Given the description of an element on the screen output the (x, y) to click on. 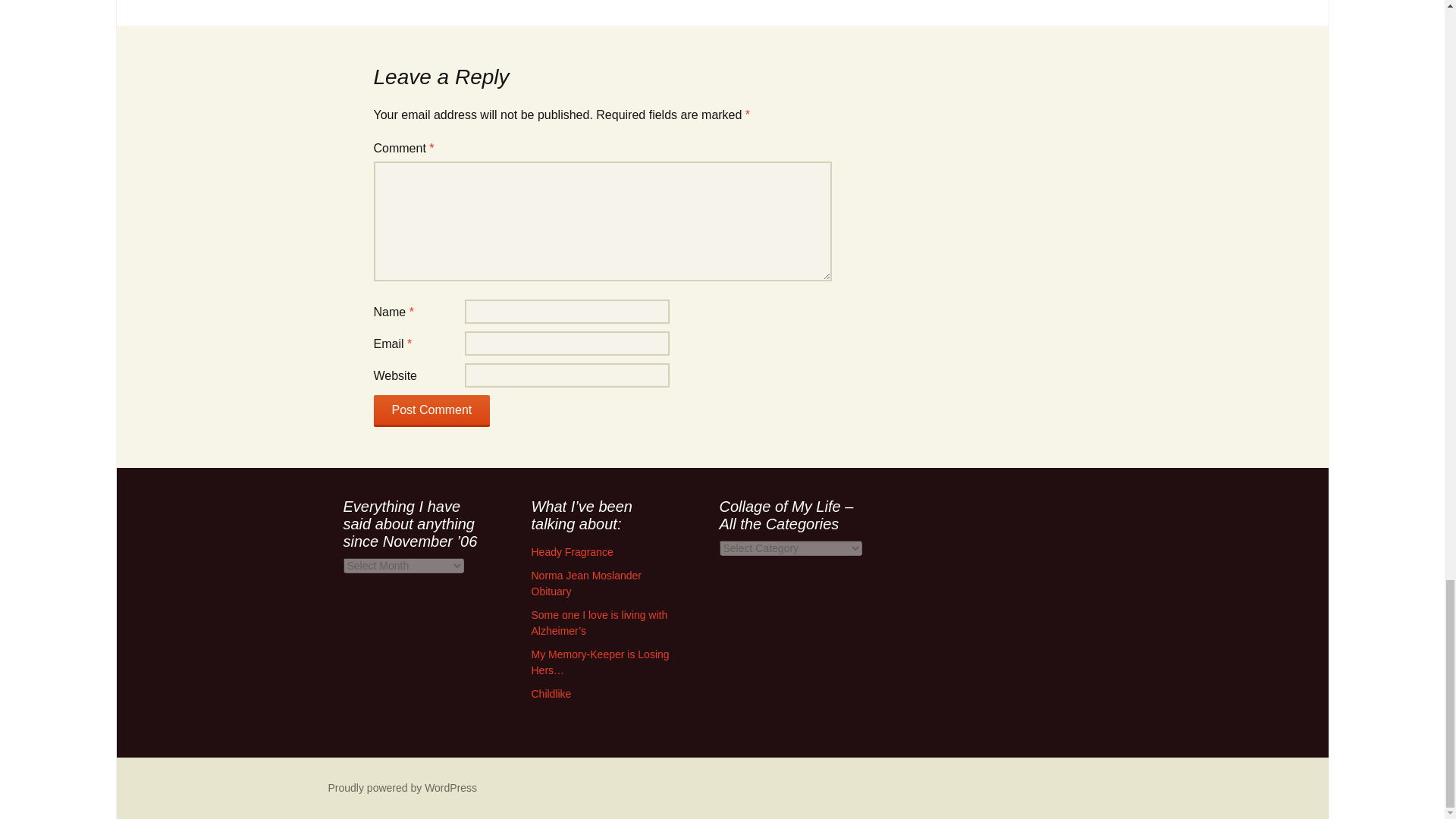
Post Comment (430, 410)
Childlike (550, 693)
Proudly powered by WordPress (402, 787)
Post Comment (430, 410)
Norma Jean Moslander Obituary (586, 583)
Heady Fragrance (571, 551)
